Given the description of an element on the screen output the (x, y) to click on. 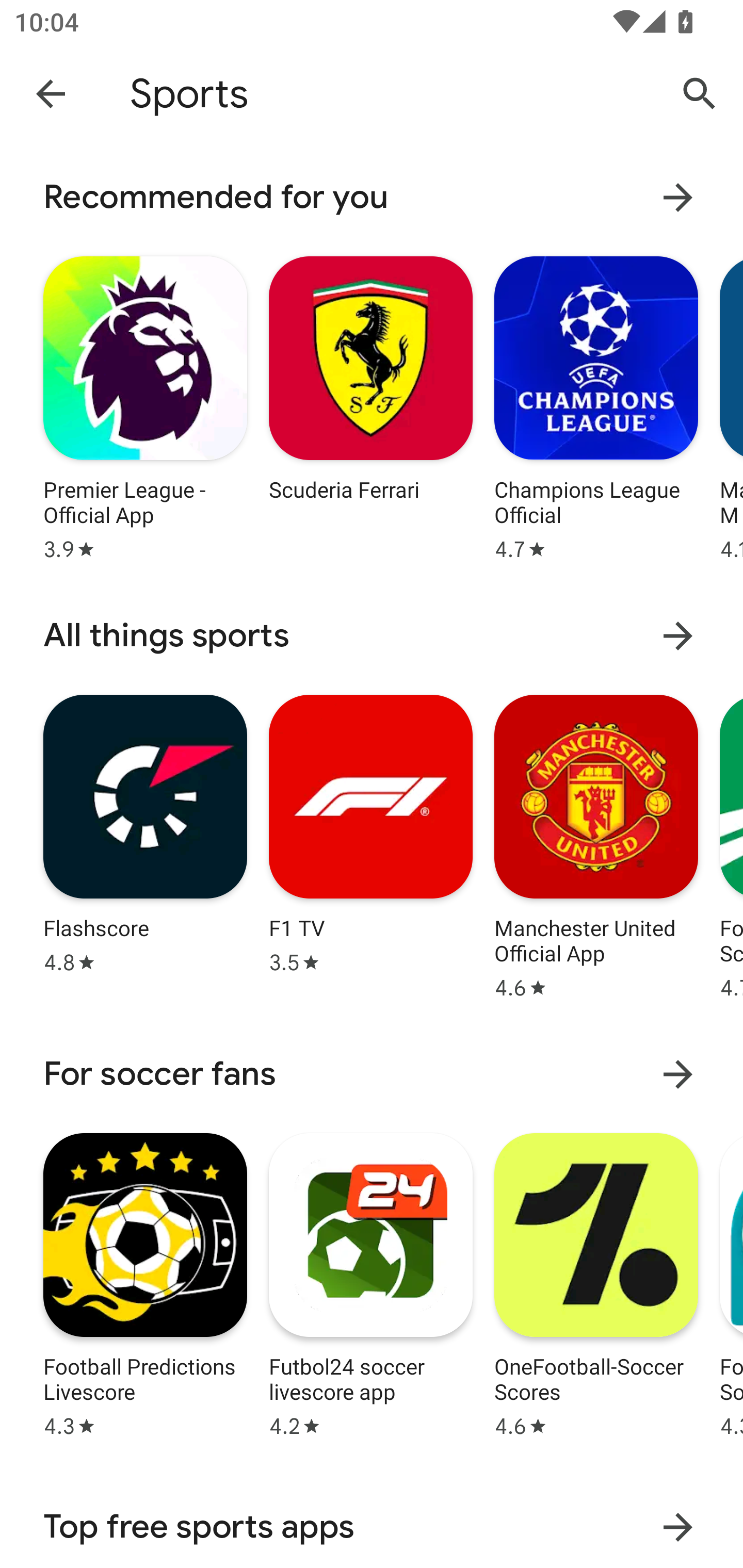
Navigate up (50, 92)
Search Google Play (699, 93)
More results for Recommended for you (677, 197)
App: Scuderia Ferrari


 (370, 405)
App: Champions League Official
Star rating: 4.7


 (595, 405)
More results for All things sports (677, 635)
App: Flashscore
Star rating: 4.8


 (144, 844)
App: F1 TV
Star rating: 3.5


 (370, 844)
For soccer fans
 More results for For soccer fans (371, 1073)
More results for For soccer fans (677, 1074)
App: OneFootball-Soccer Scores
Star rating: 4.6


 (595, 1282)
More results for Top free sports apps (677, 1527)
